Given the description of an element on the screen output the (x, y) to click on. 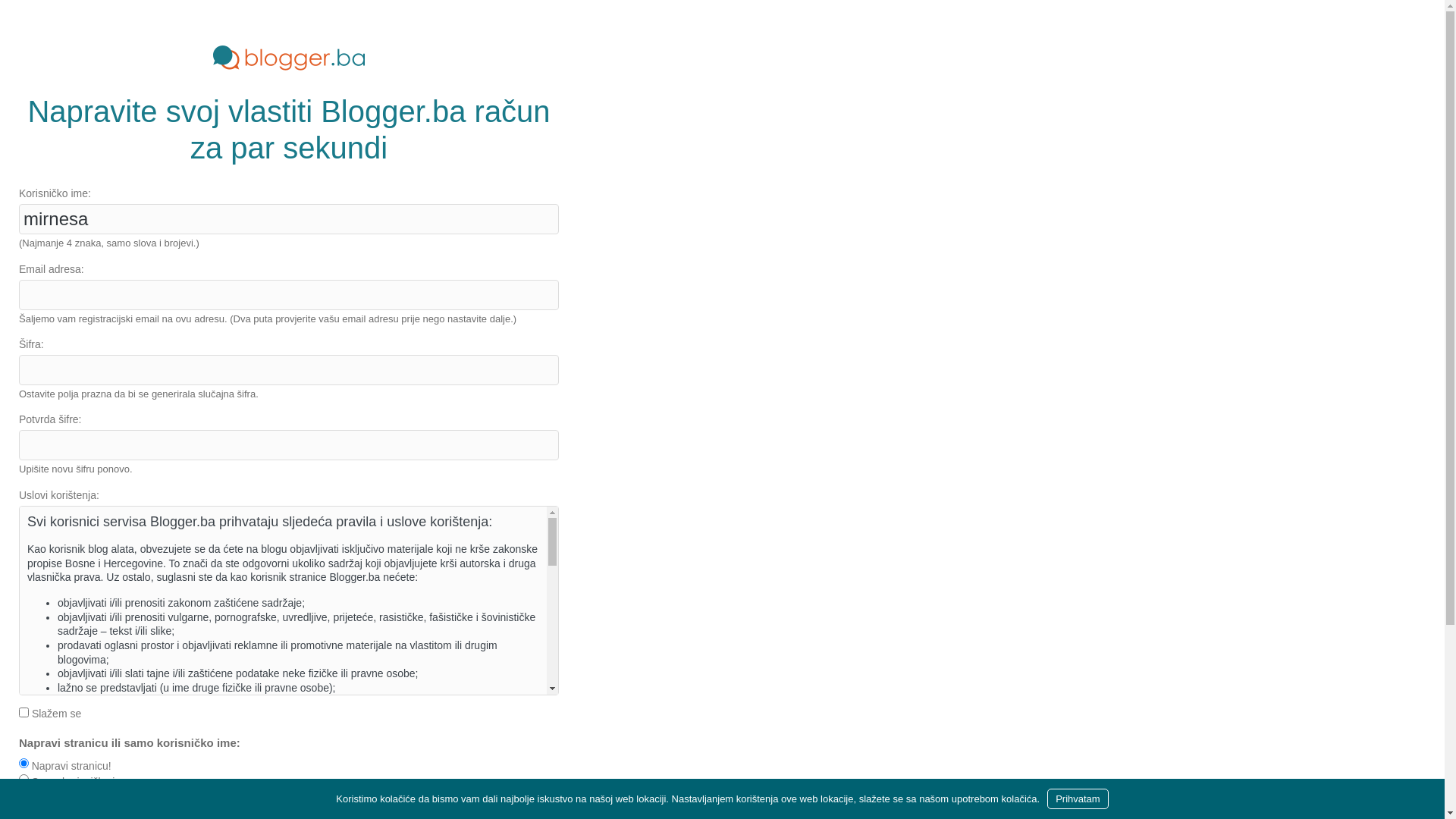
Prihvatam Element type: text (1077, 798)
